Given the description of an element on the screen output the (x, y) to click on. 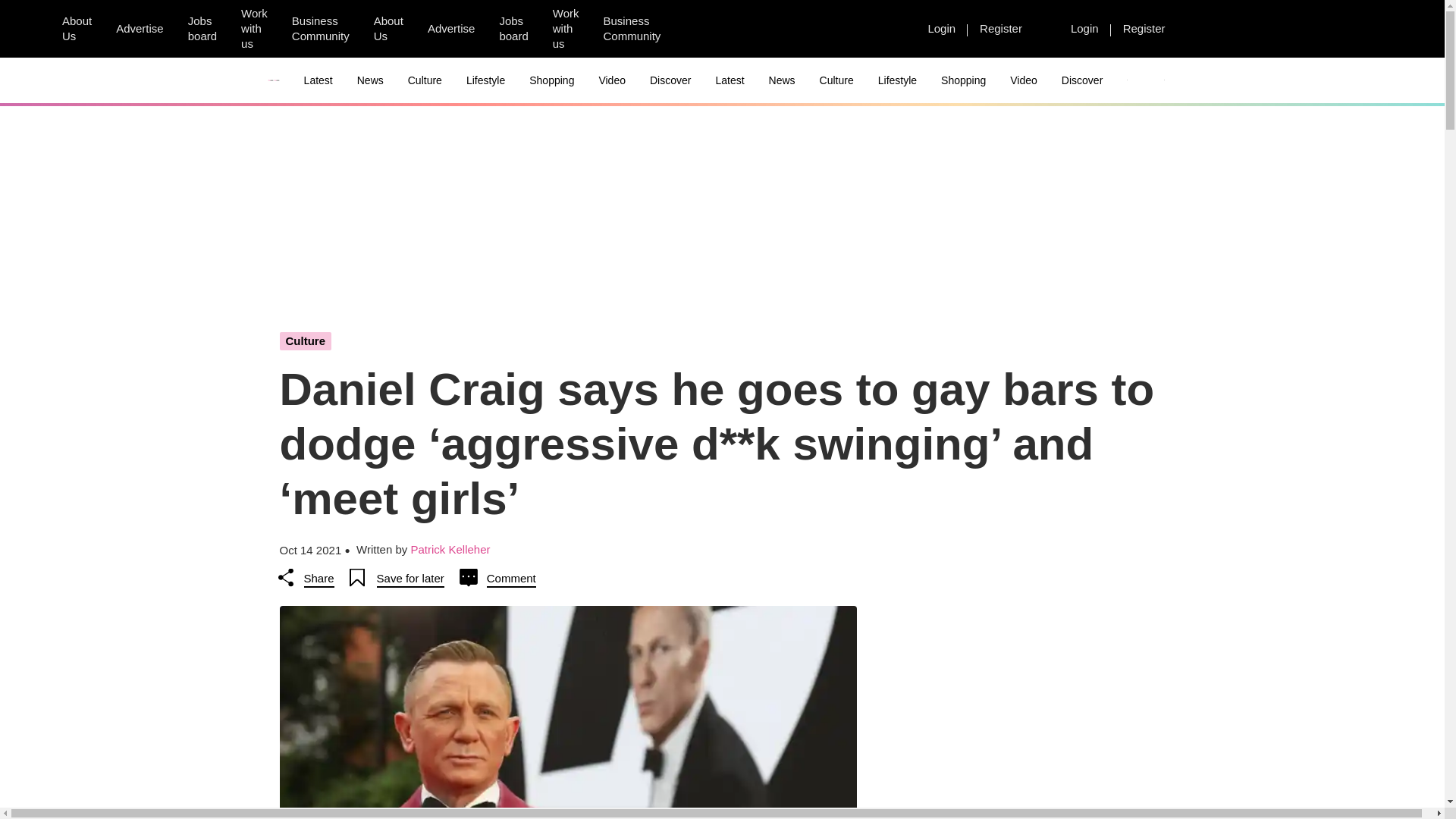
About Us (387, 28)
About Us (76, 28)
Advertise (450, 28)
Work with us (565, 28)
Jobs board (513, 28)
Register (1000, 28)
Follow PinkNews on LinkedIn (775, 28)
Work with us (253, 28)
Login (941, 28)
Jobs board (202, 28)
Register (1143, 28)
Login (1084, 28)
News (370, 79)
Business Community (320, 28)
Business Community (631, 28)
